Given the description of an element on the screen output the (x, y) to click on. 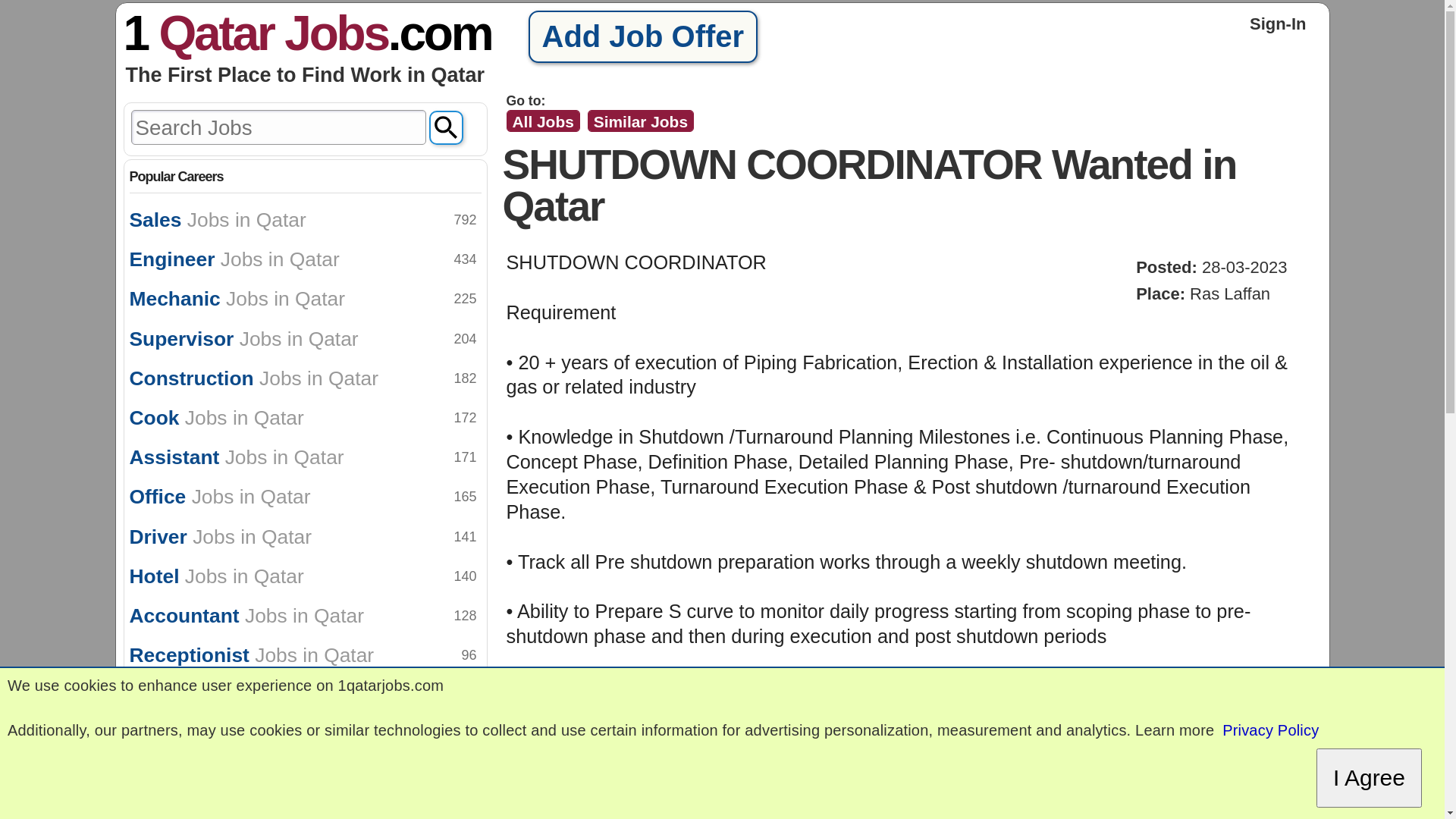
Supervisor Jobs in Qatar
204 Element type: text (304, 338)
Qatar Jobs Element type: text (272, 33)
Sales Jobs in Qatar
792 Element type: text (304, 219)
Electrician Jobs in Qatar
62 Element type: text (304, 774)
All Jobs Element type: text (543, 120)
Add Job Offer Element type: text (642, 36)
Similar Jobs Element type: text (640, 120)
Cleaner Jobs in Qatar
92 Element type: text (304, 695)
Cook Jobs in Qatar
172 Element type: text (304, 417)
Part time Jobs in Qatar
81 Element type: text (304, 734)
Driver Jobs in Qatar
141 Element type: text (304, 536)
Hotel Jobs in Qatar
140 Element type: text (304, 576)
Mechanic Jobs in Qatar
225 Element type: text (304, 298)
Engineer Jobs in Qatar
434 Element type: text (304, 259)
Write text to Search Jobs Element type: hover (278, 126)
Receptionist Jobs in Qatar
96 Element type: text (304, 655)
Office Jobs in Qatar
165 Element type: text (304, 496)
Privacy Policy Element type: text (1270, 730)
Construction Jobs in Qatar
182 Element type: text (304, 378)
I Agree Element type: text (1368, 777)
Accountant Jobs in Qatar
128 Element type: text (304, 615)
Assistant Jobs in Qatar
171 Element type: text (304, 457)
